Given the description of an element on the screen output the (x, y) to click on. 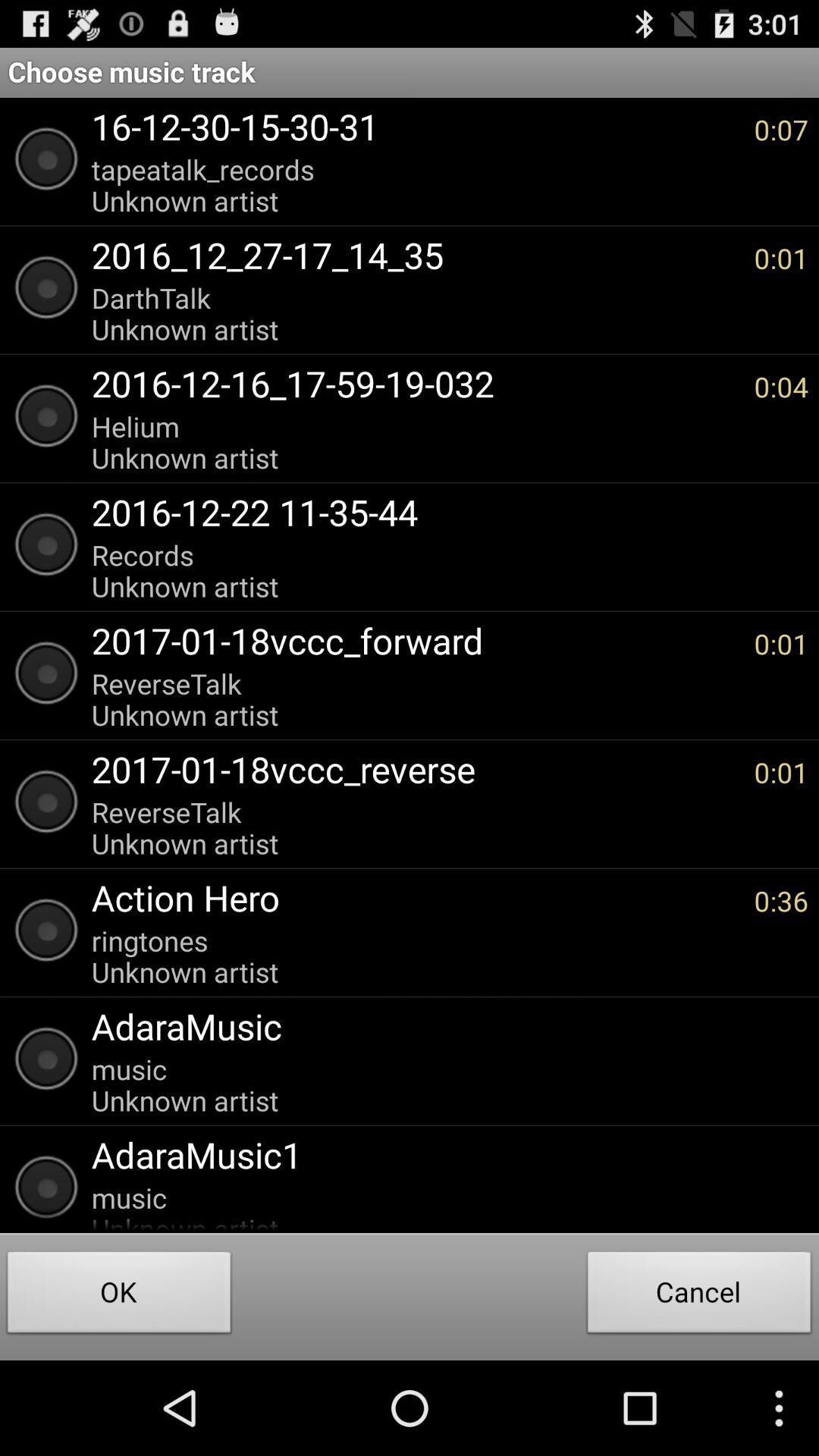
jump until tapeatalk_records
unknown artist app (414, 185)
